Given the description of an element on the screen output the (x, y) to click on. 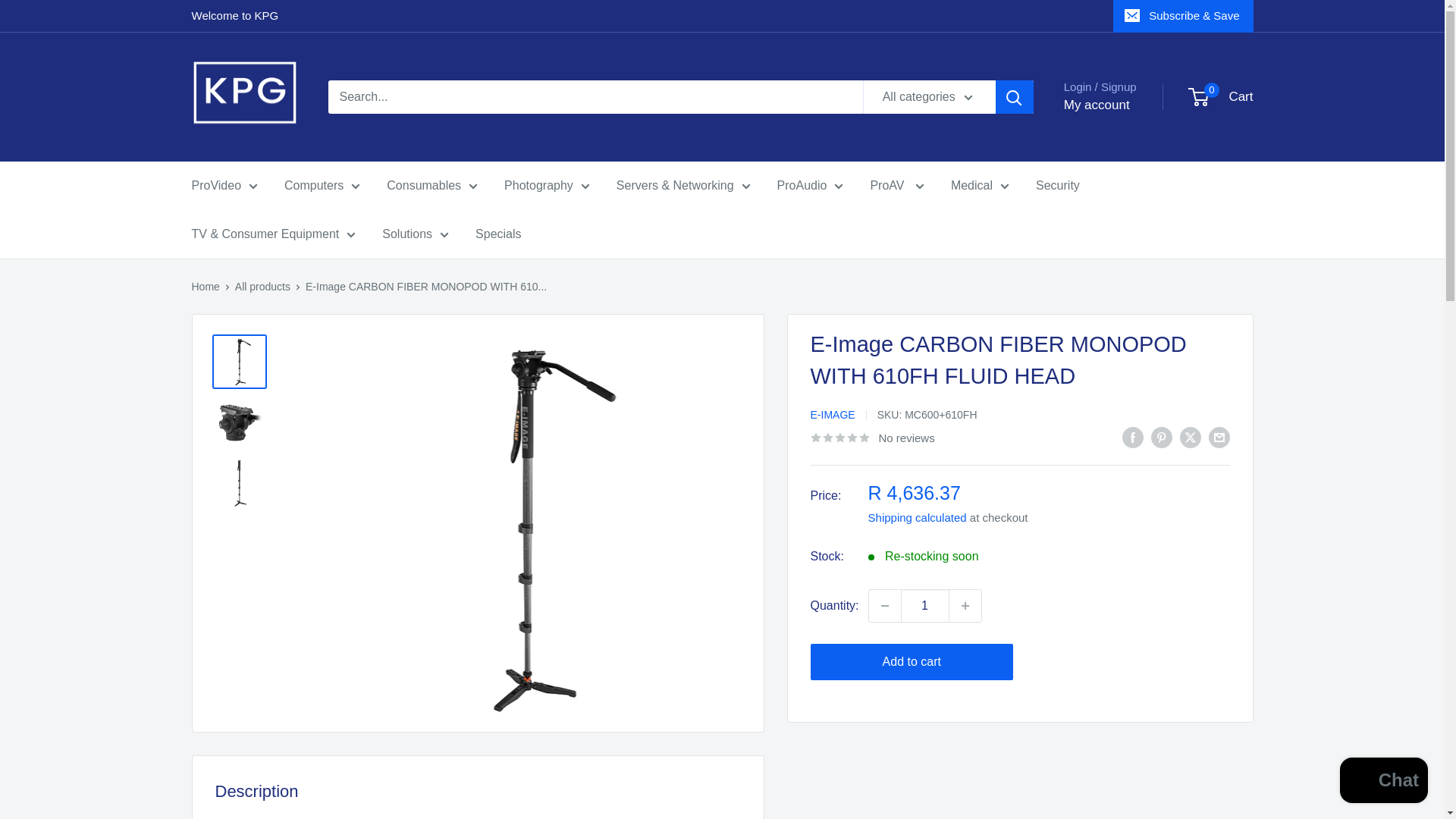
Increase quantity by 1 (965, 605)
Shopify online store chat (1383, 781)
1 (925, 605)
Decrease quantity by 1 (885, 605)
